Given the description of an element on the screen output the (x, y) to click on. 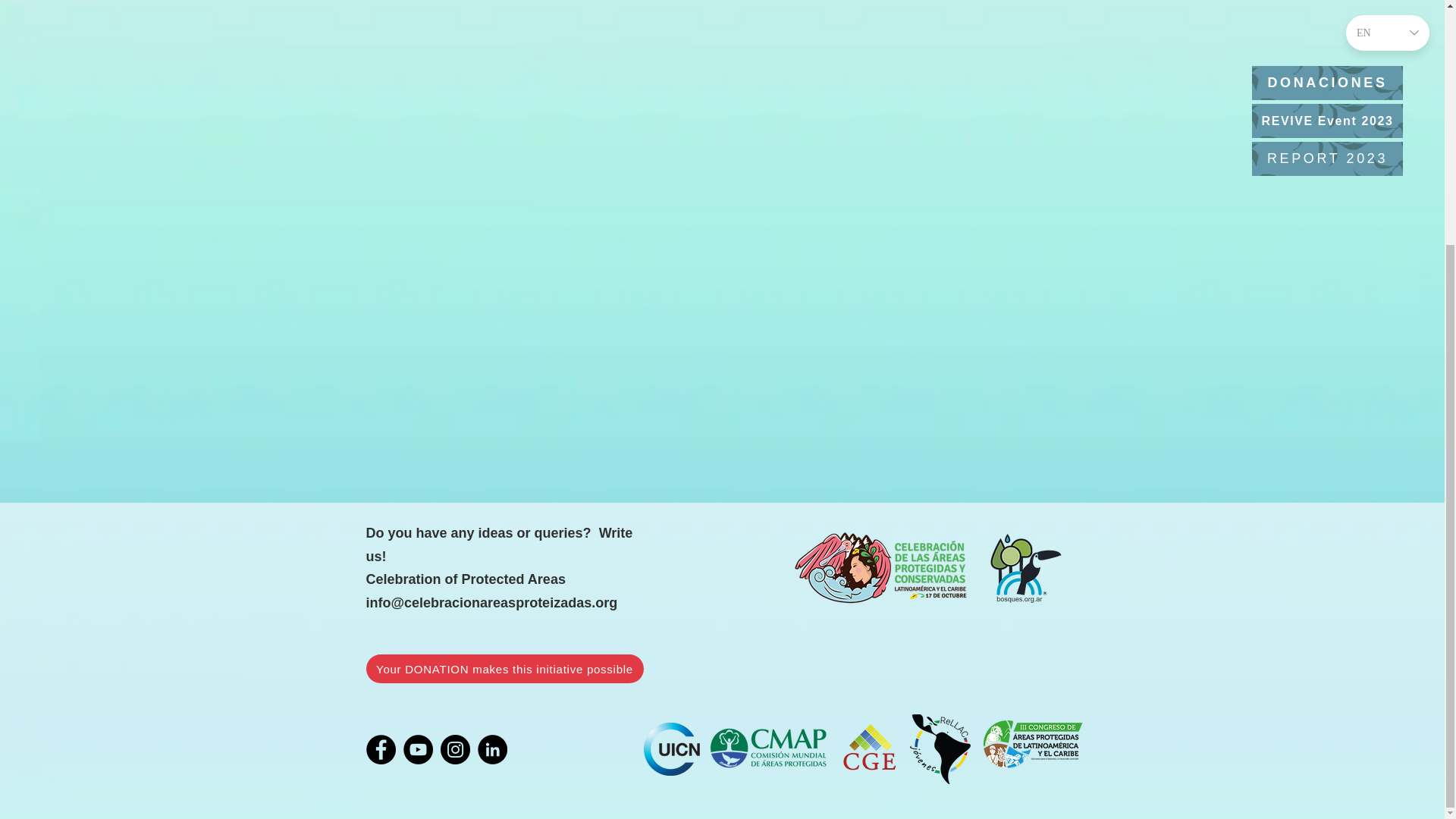
Your DONATION makes this initiative possible (504, 668)
